Given the description of an element on the screen output the (x, y) to click on. 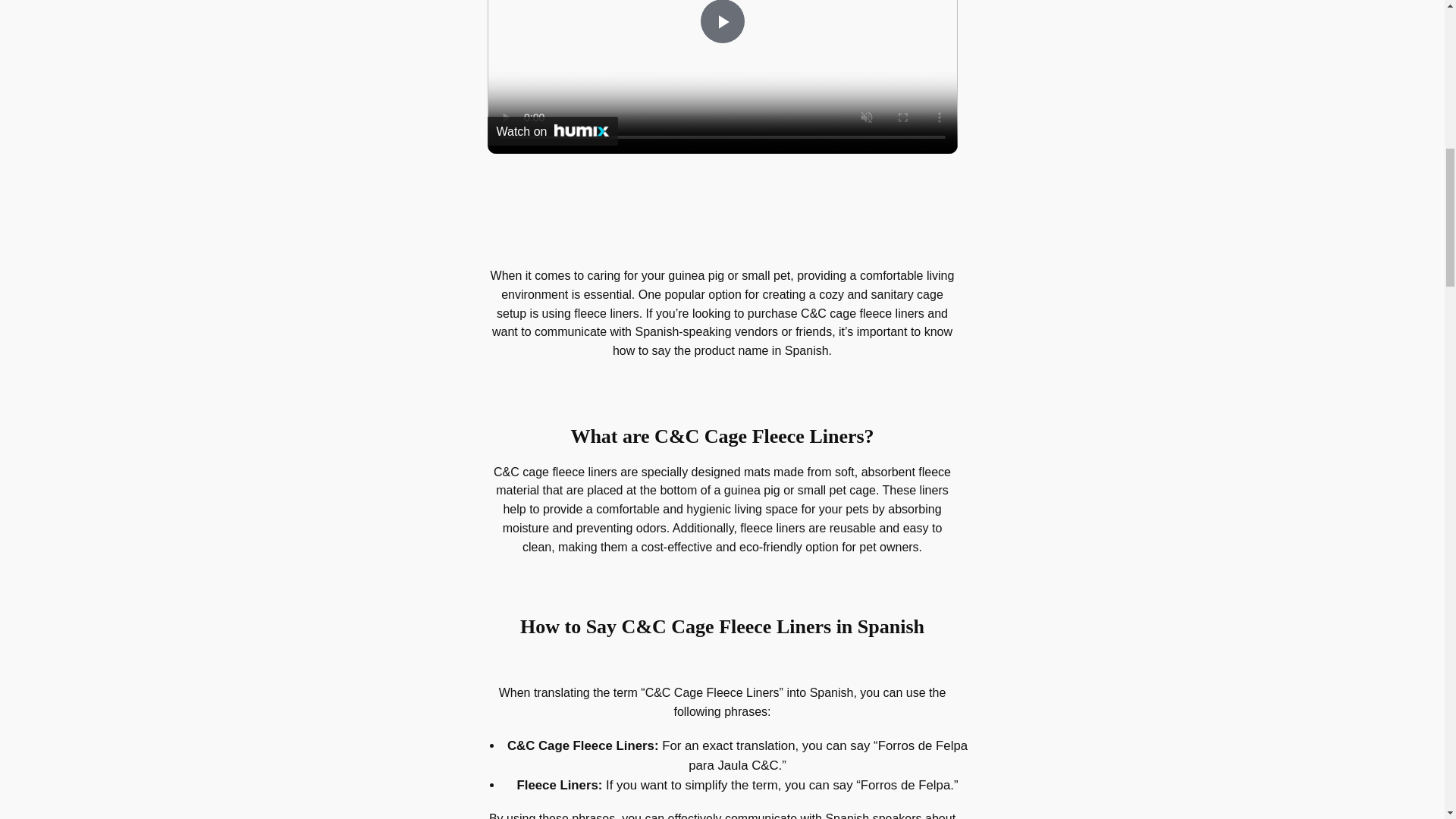
Watch on (551, 131)
Play Video (721, 22)
Play Video (721, 22)
